Given the description of an element on the screen output the (x, y) to click on. 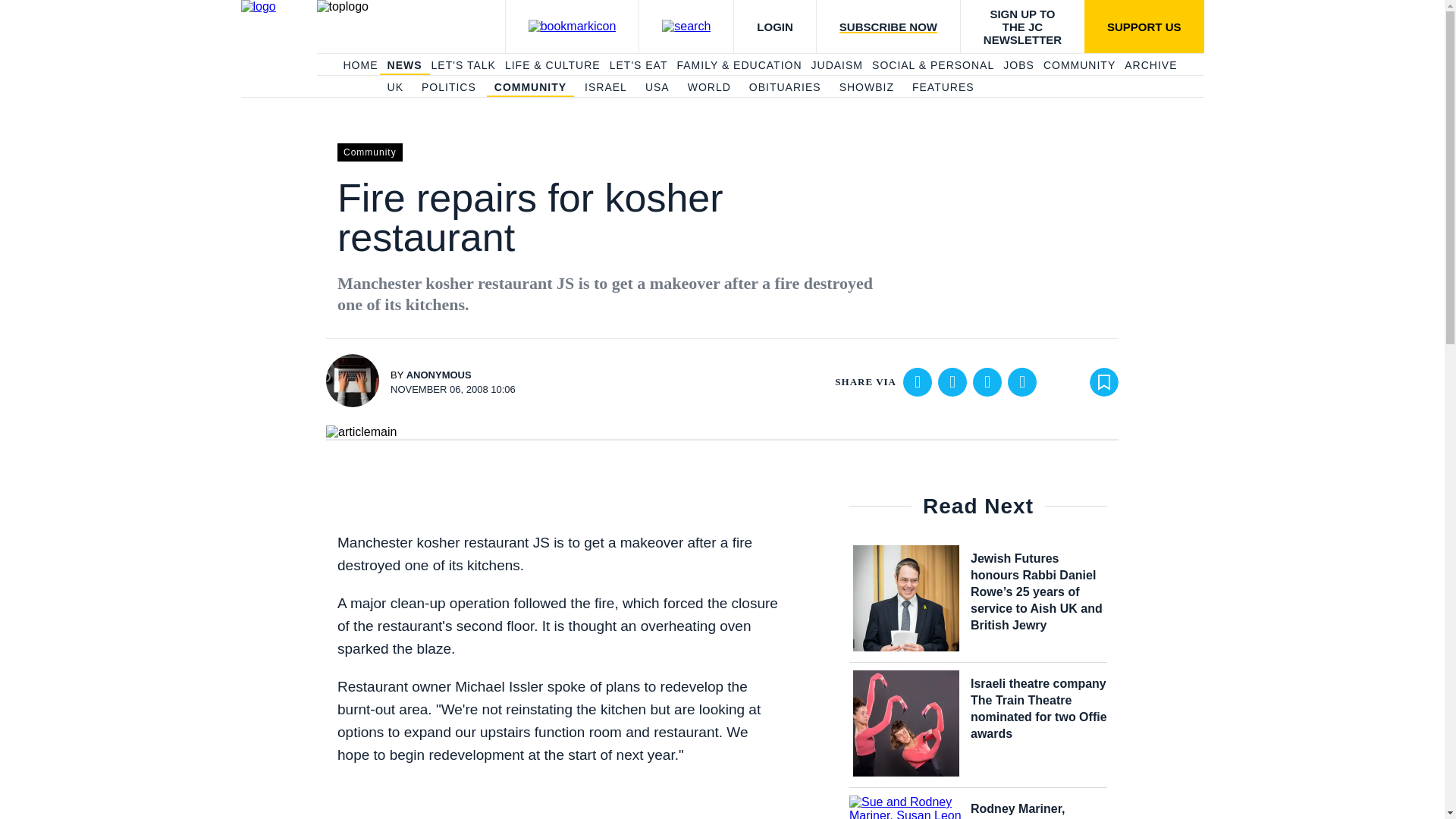
ISRAEL (606, 87)
POLITICS (449, 87)
UK (395, 87)
LET'S EAT (639, 65)
SUBSCRIBE NOW (887, 26)
USA (657, 87)
LOGIN (774, 26)
WORLD (708, 87)
LET'S TALK (463, 65)
OBITUARIES (785, 87)
